Given the description of an element on the screen output the (x, y) to click on. 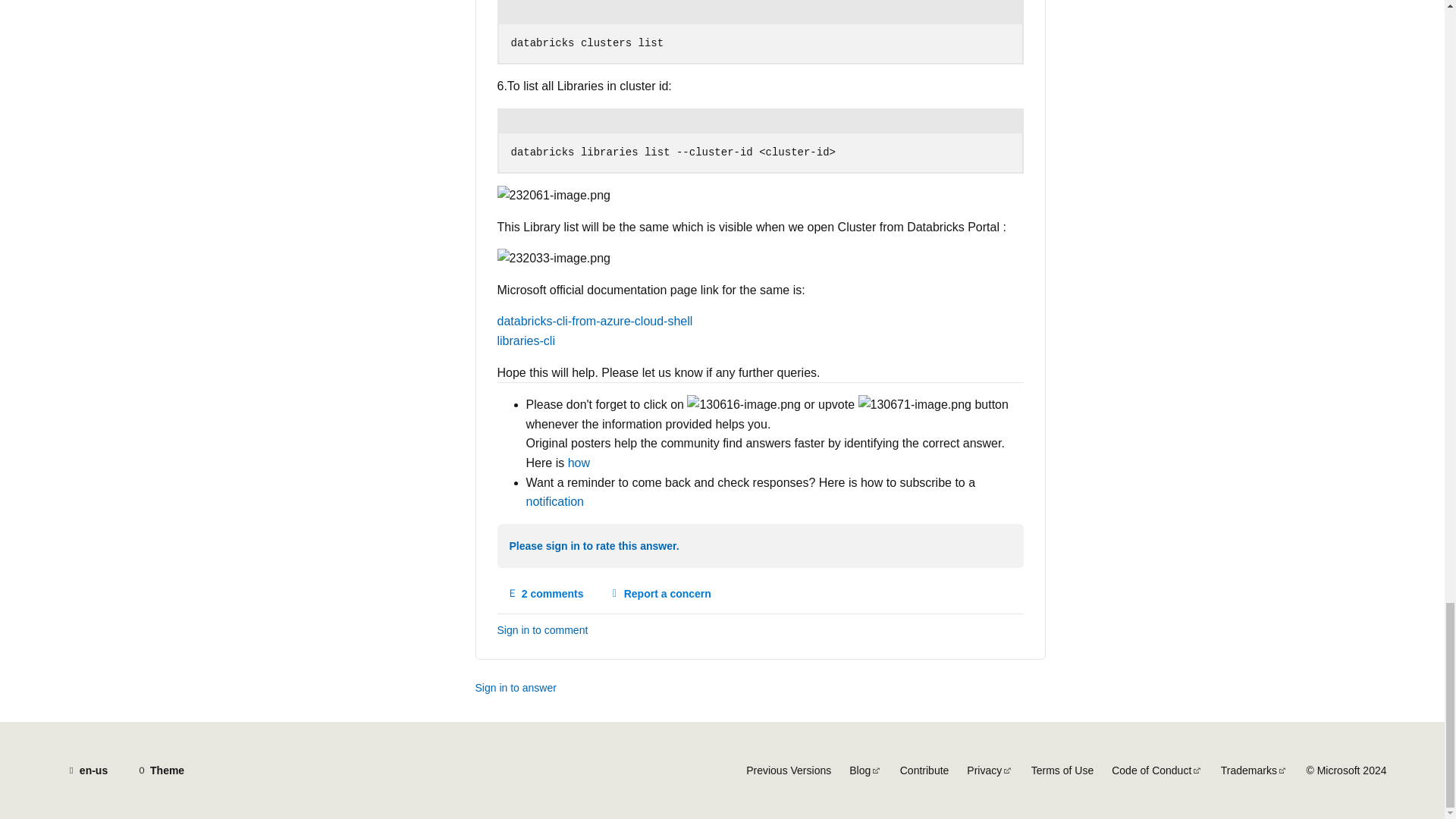
libraries-cli (545, 593)
Report a concern (525, 340)
how (659, 593)
Please sign in to rate this answer. (578, 462)
Show comments for this answer (594, 546)
notification (545, 593)
databricks-cli-from-azure-cloud-shell (555, 501)
Report a concern (595, 320)
